Given the description of an element on the screen output the (x, y) to click on. 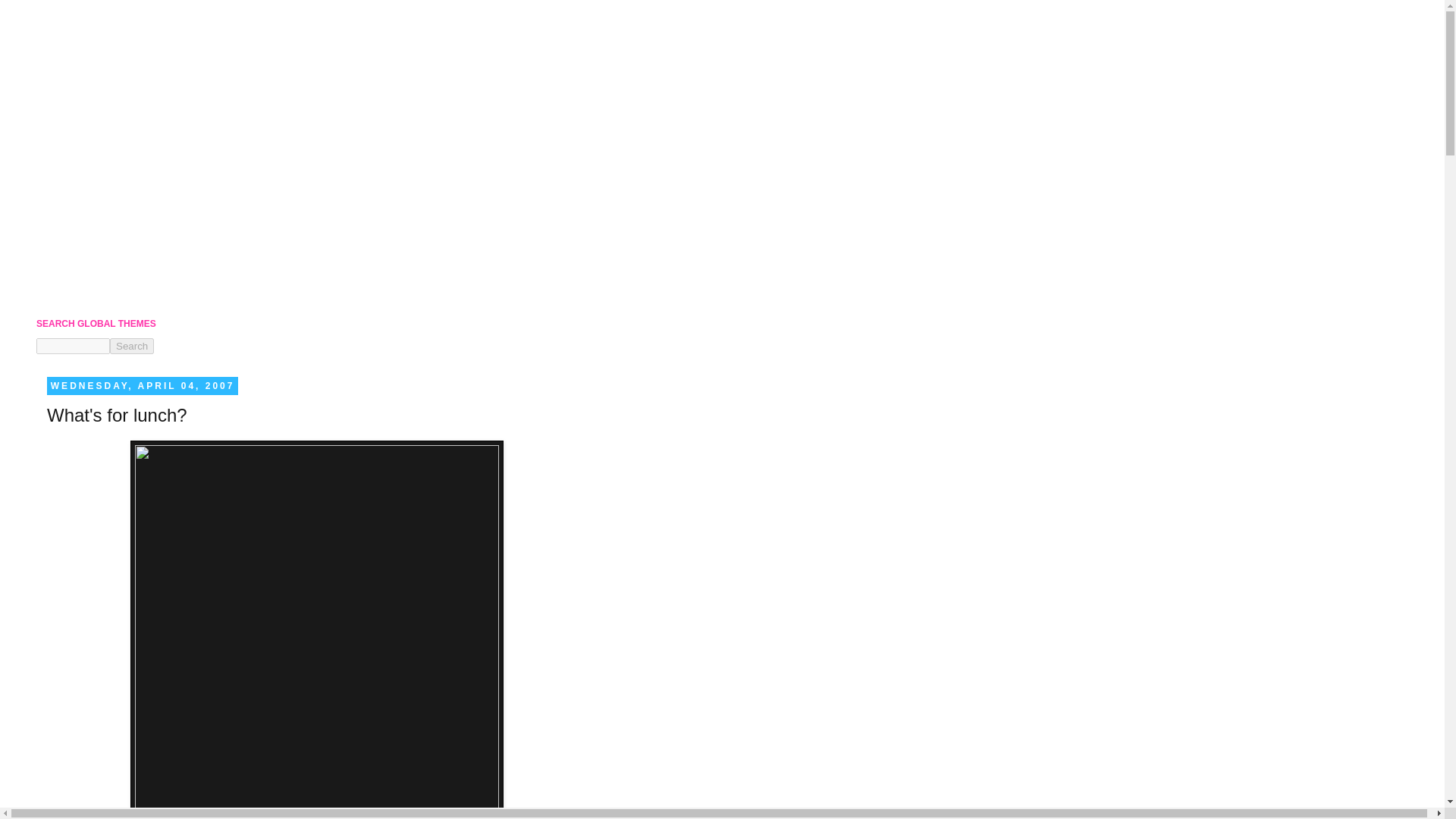
search (73, 345)
Search (132, 345)
search (132, 345)
Search (132, 345)
Search (132, 345)
Best of ... (76, 294)
Recognition (82, 269)
WhoWhatWhy (88, 195)
"Project Capturing Smiles" (114, 220)
Editor's Notes (86, 244)
